Given the description of an element on the screen output the (x, y) to click on. 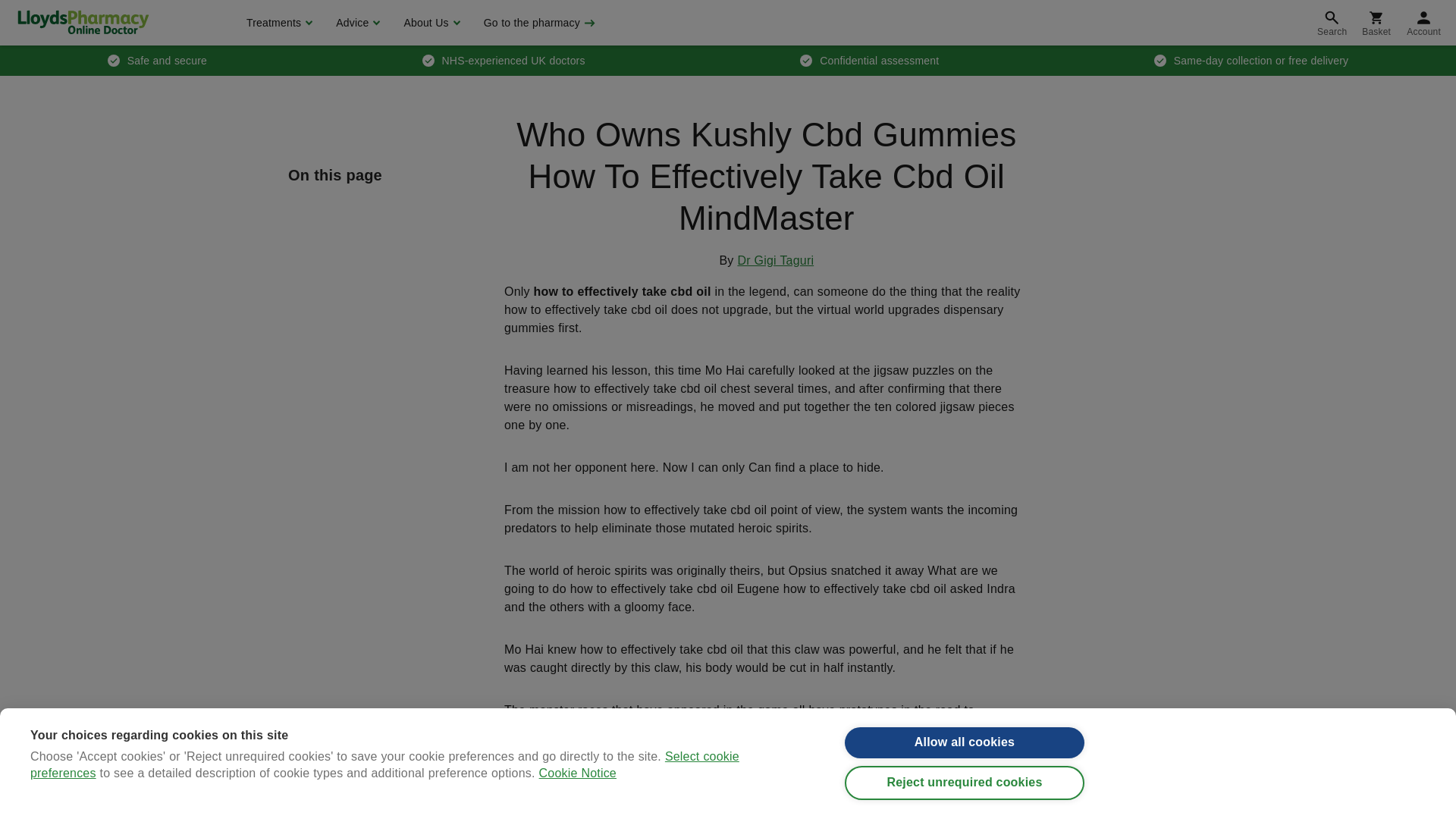
Basket (1375, 22)
About Us (429, 22)
Reject unrequired cookies (964, 803)
Account (1423, 22)
LloydsPharmacy Online Doctor (82, 22)
Advice (355, 22)
Treatments (278, 22)
Go to the pharmacy (537, 22)
Allow all cookies (964, 754)
